Given the description of an element on the screen output the (x, y) to click on. 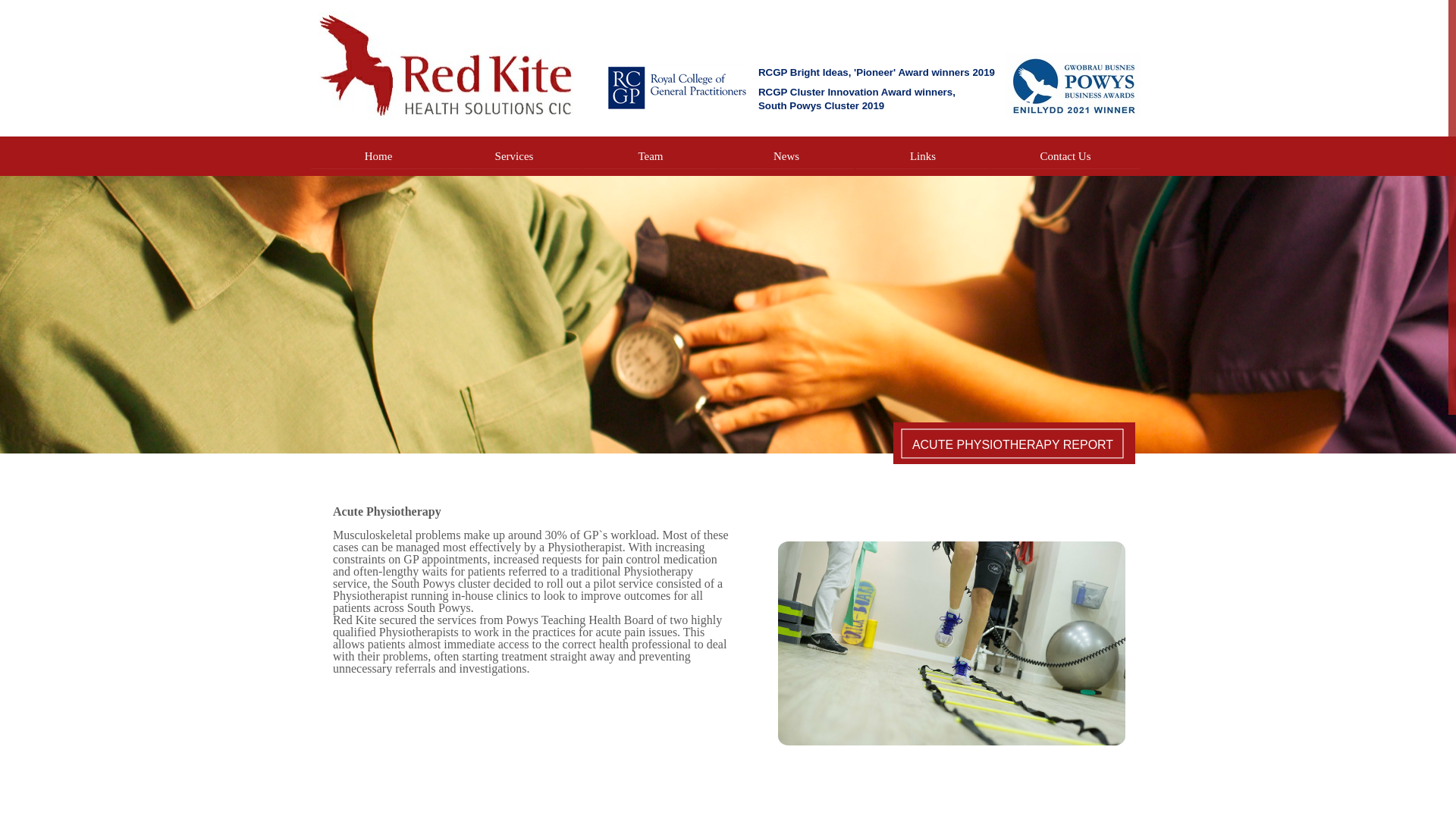
Links (923, 156)
Services (513, 156)
ACUTE PHYSIOTHERAPY REPORT (1012, 443)
Home (378, 156)
Contact Us (1065, 156)
Team (650, 156)
News (786, 156)
